Given the description of an element on the screen output the (x, y) to click on. 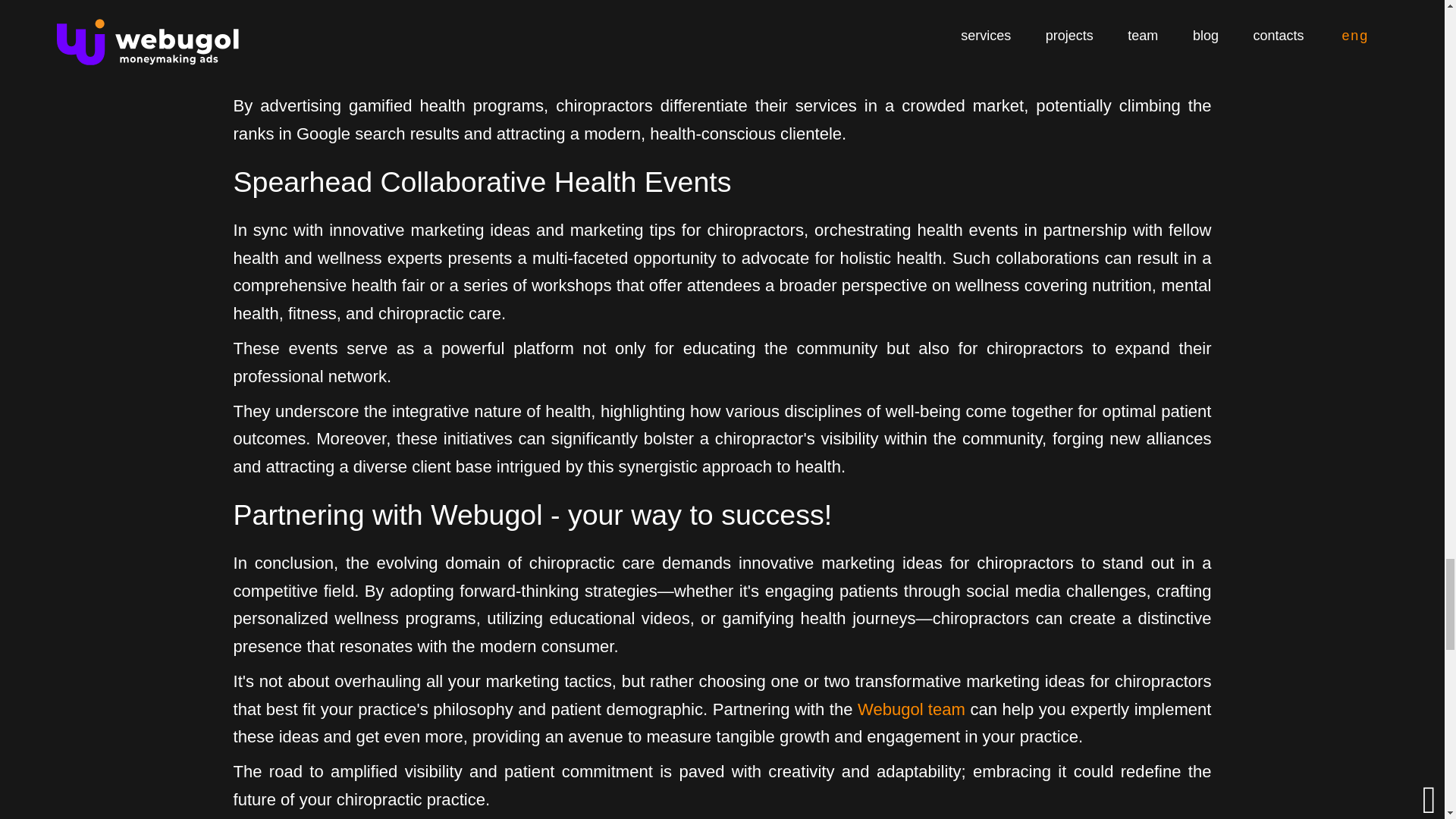
trends (649, 71)
